Given the description of an element on the screen output the (x, y) to click on. 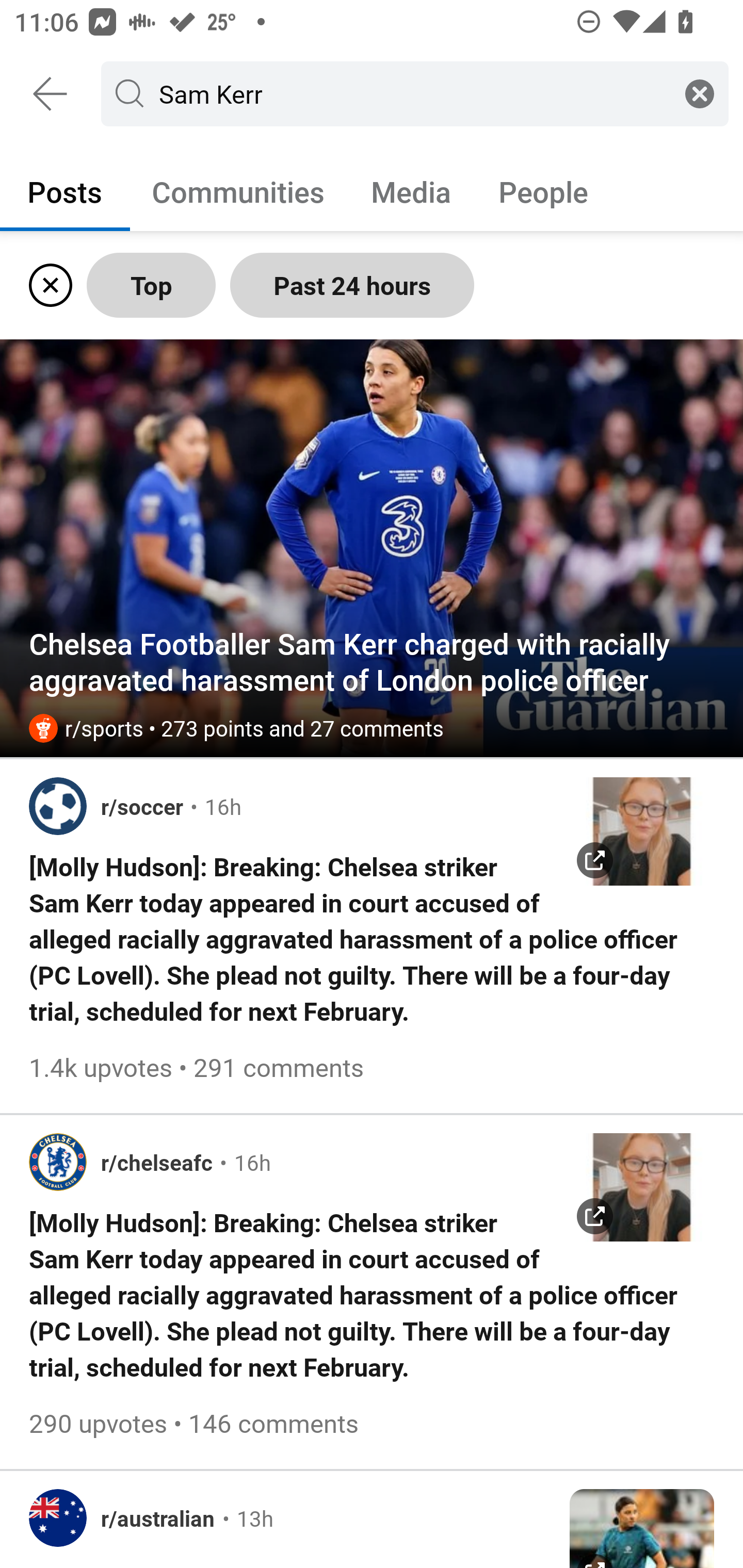
Back (50, 93)
Sam Kerr (410, 93)
Clear search (699, 93)
Communities (238, 191)
Media (411, 191)
People (542, 191)
Clear active filters (46, 285)
Top Sort by Top (150, 285)
Past 24 hours Filter Time by Past 24 hours (352, 285)
